Given the description of an element on the screen output the (x, y) to click on. 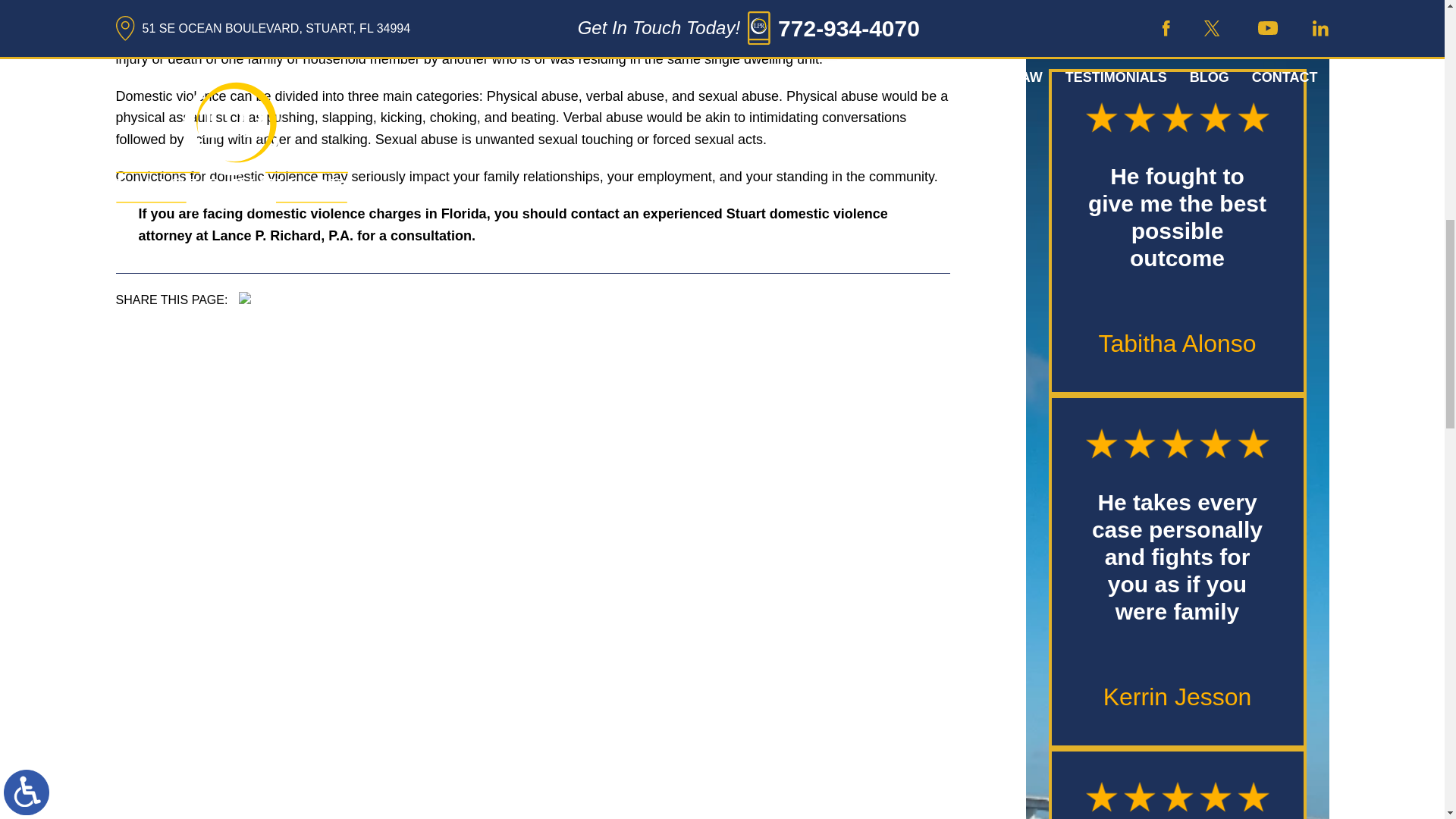
Twitter (255, 297)
LinkedIn (266, 297)
Facebook (244, 297)
